Given the description of an element on the screen output the (x, y) to click on. 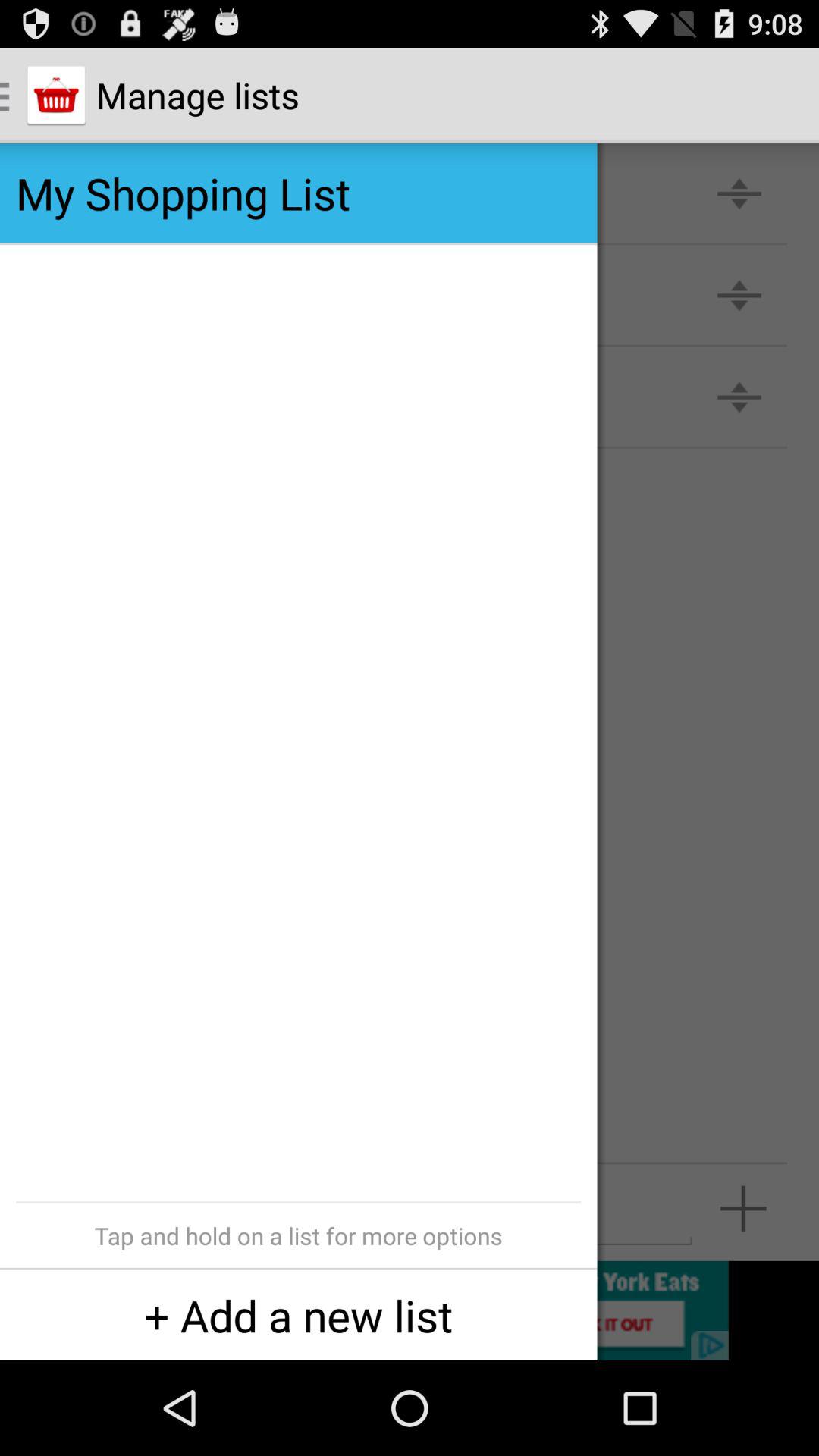
click on the second button at the right side of the page (739, 294)
